Given the description of an element on the screen output the (x, y) to click on. 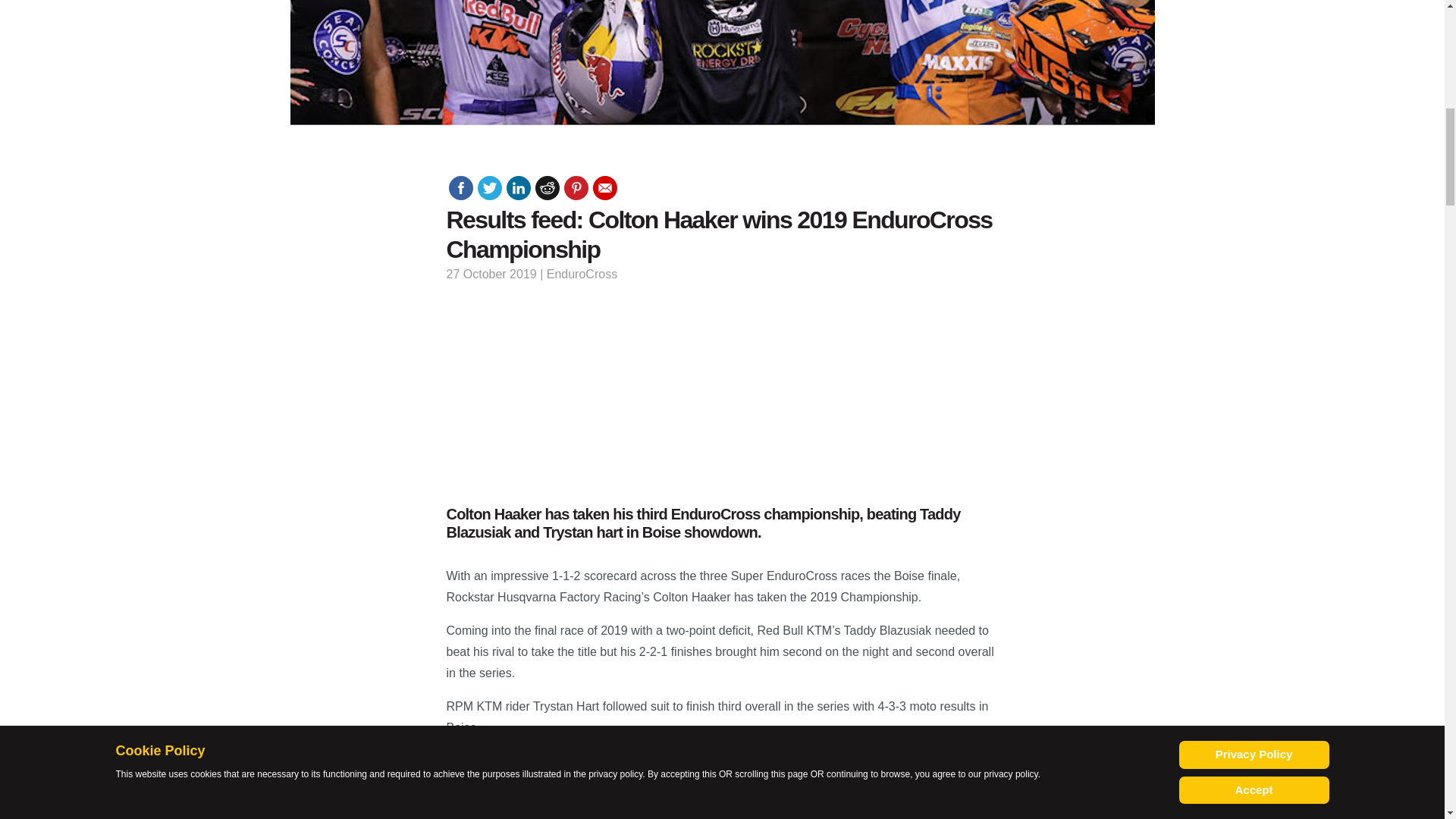
Share on LinkedIn (518, 187)
3rd party ad content (1279, 65)
3rd party ad content (164, 65)
Share on Reddit (547, 187)
Recommend this page (604, 187)
Share on Twitter (489, 187)
Share on Facebook (460, 187)
3rd party ad content (721, 391)
